Given the description of an element on the screen output the (x, y) to click on. 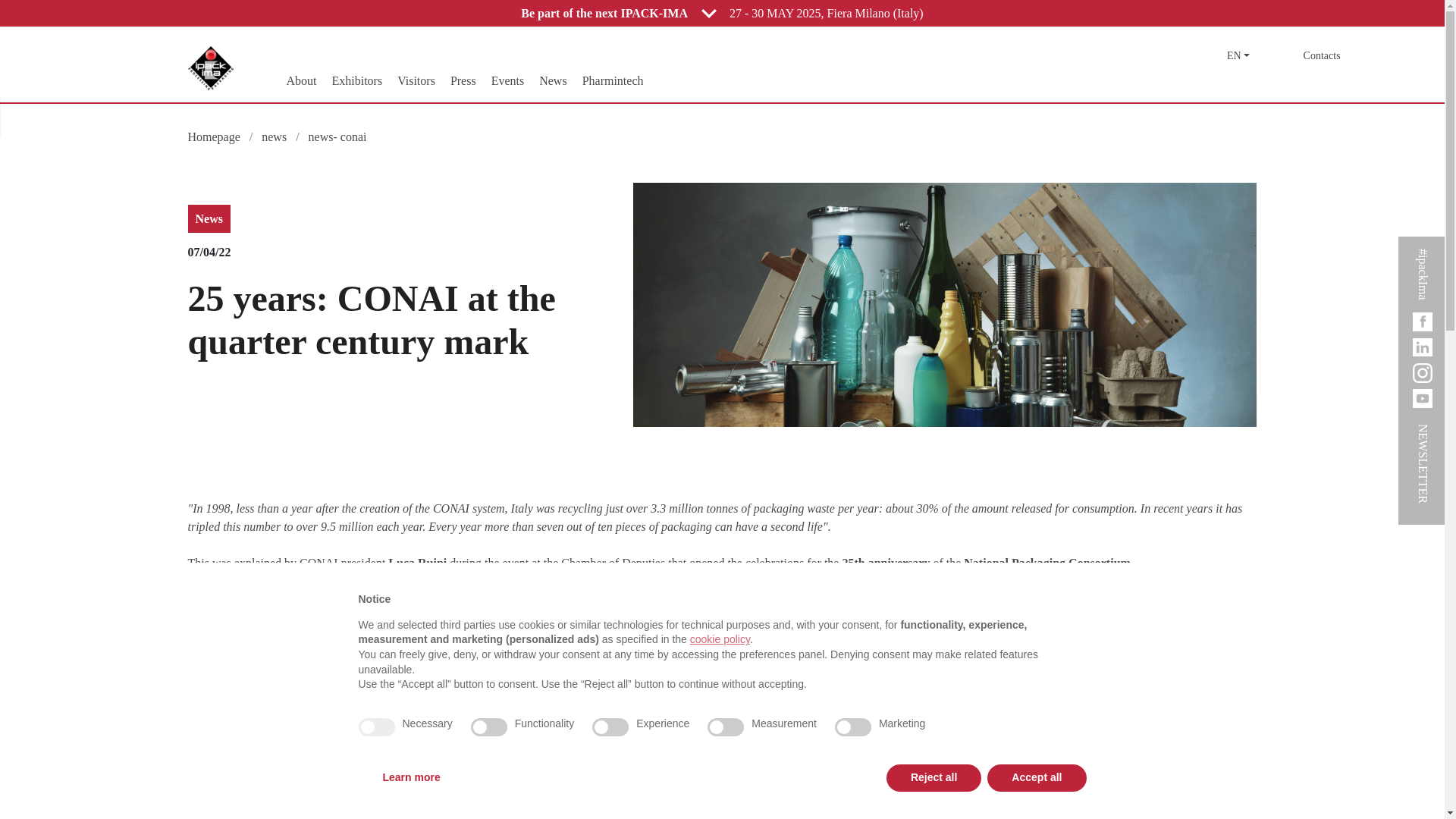
About (300, 80)
false (725, 727)
About (300, 80)
false (610, 727)
News (612, 80)
About (356, 80)
Exhibitors (356, 80)
true (376, 727)
Press (462, 80)
IPACK IMA home page (209, 66)
Visitatori (416, 80)
Eventi (507, 80)
false (488, 727)
Press (462, 80)
Visitors (416, 80)
